Given the description of an element on the screen output the (x, y) to click on. 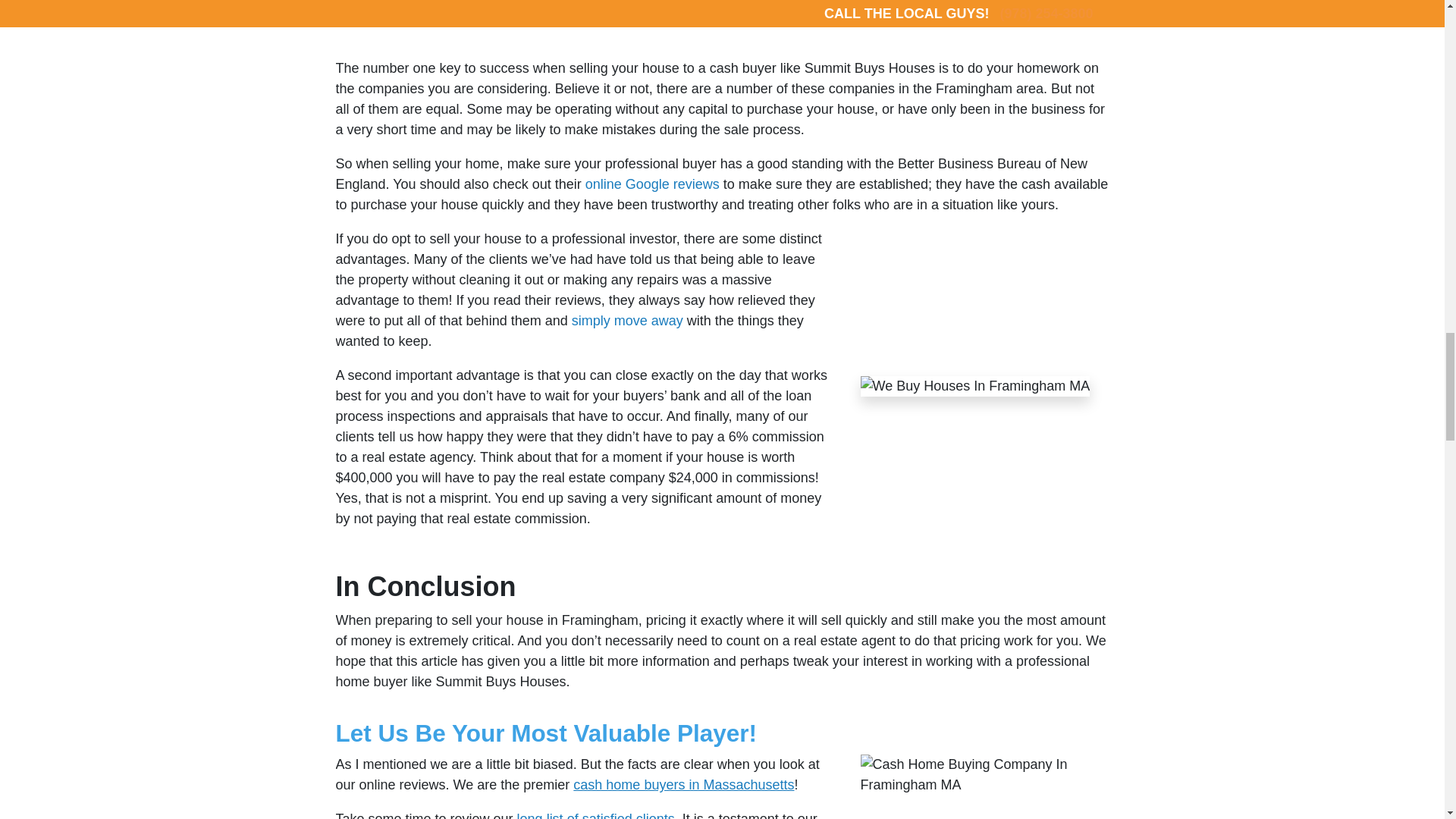
simply move away (629, 320)
cash home buyers in Massachusetts (681, 784)
online Google reviews (652, 183)
long list of satisfied clients (595, 815)
